Given the description of an element on the screen output the (x, y) to click on. 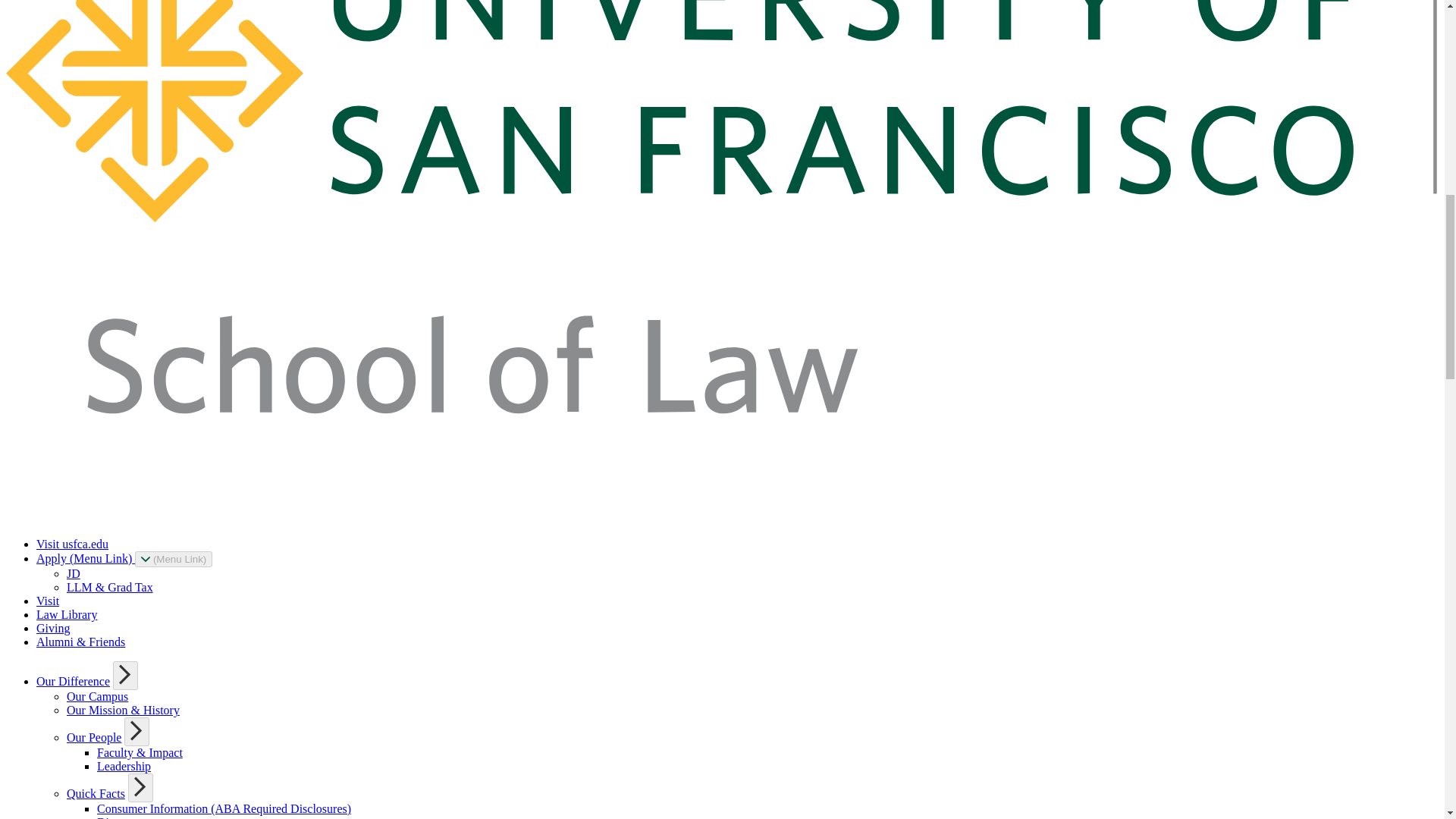
JD (73, 573)
Our Campus (97, 696)
Our Difference (73, 680)
Law Library (66, 614)
Visit usfca.edu (71, 543)
Giving (52, 627)
Our People (93, 737)
Directory (119, 817)
Visit (47, 600)
Quick Facts (95, 793)
